Given the description of an element on the screen output the (x, y) to click on. 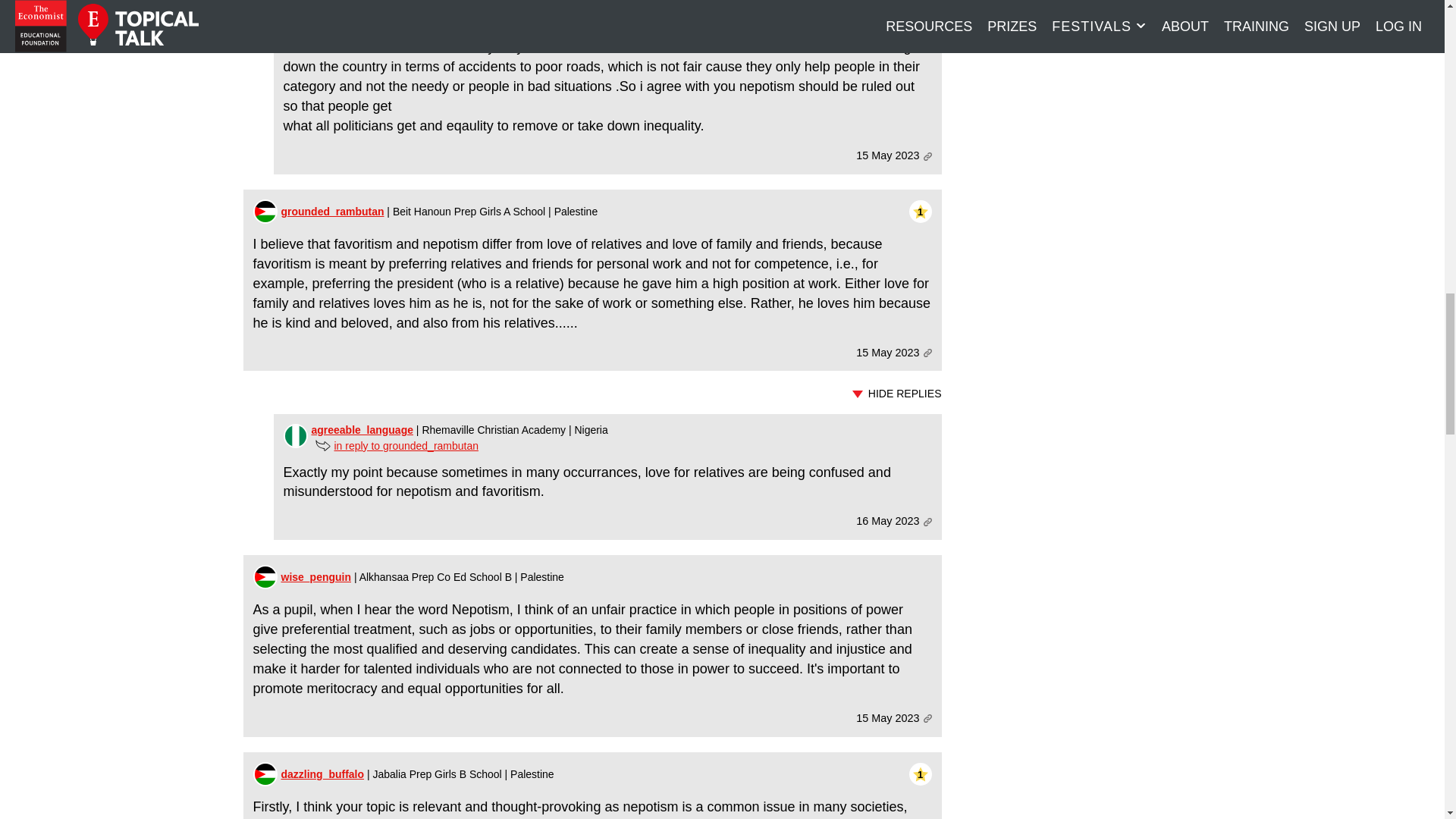
Copy URL to clipboard (927, 352)
Copy URL to clipboard (927, 718)
Copy URL to clipboard (927, 521)
HIDE REPLIES (591, 393)
Copy URL to clipboard (927, 156)
